Given the description of an element on the screen output the (x, y) to click on. 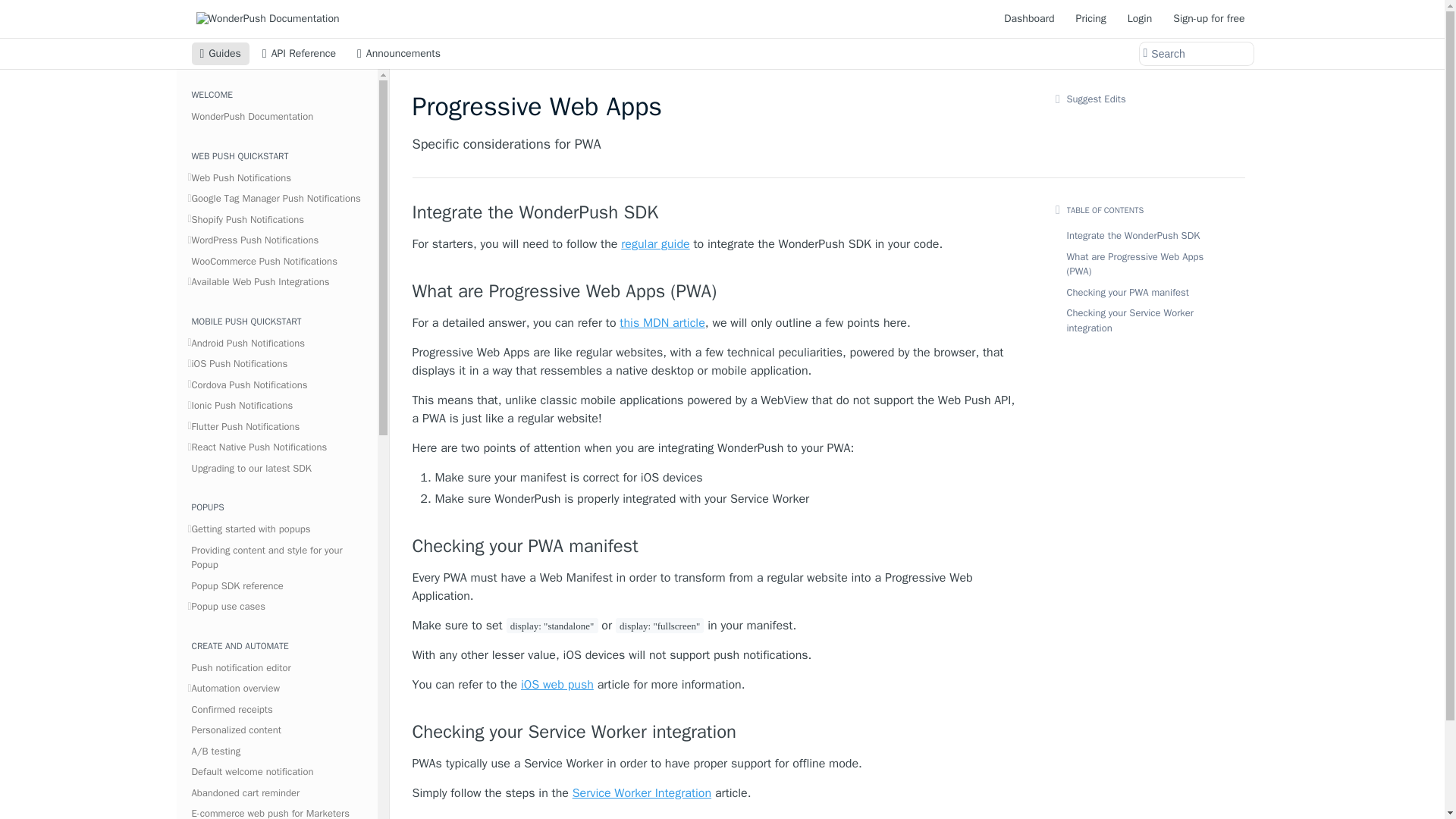
Integrate the WonderPush SDK (715, 211)
Login (1139, 18)
Web Push Notifications (277, 178)
Dashboard (1028, 18)
Announcements (398, 53)
API Reference (298, 53)
Sign-up for free (1208, 18)
WonderPush Documentation (277, 116)
Pricing (1091, 18)
Guides (219, 53)
Shopify Push Notifications (277, 219)
Checking your PWA manifest (715, 545)
Checking your Service Worker integration (715, 731)
Google Tag Manager Push Notifications (277, 198)
Search (1195, 53)
